Given the description of an element on the screen output the (x, y) to click on. 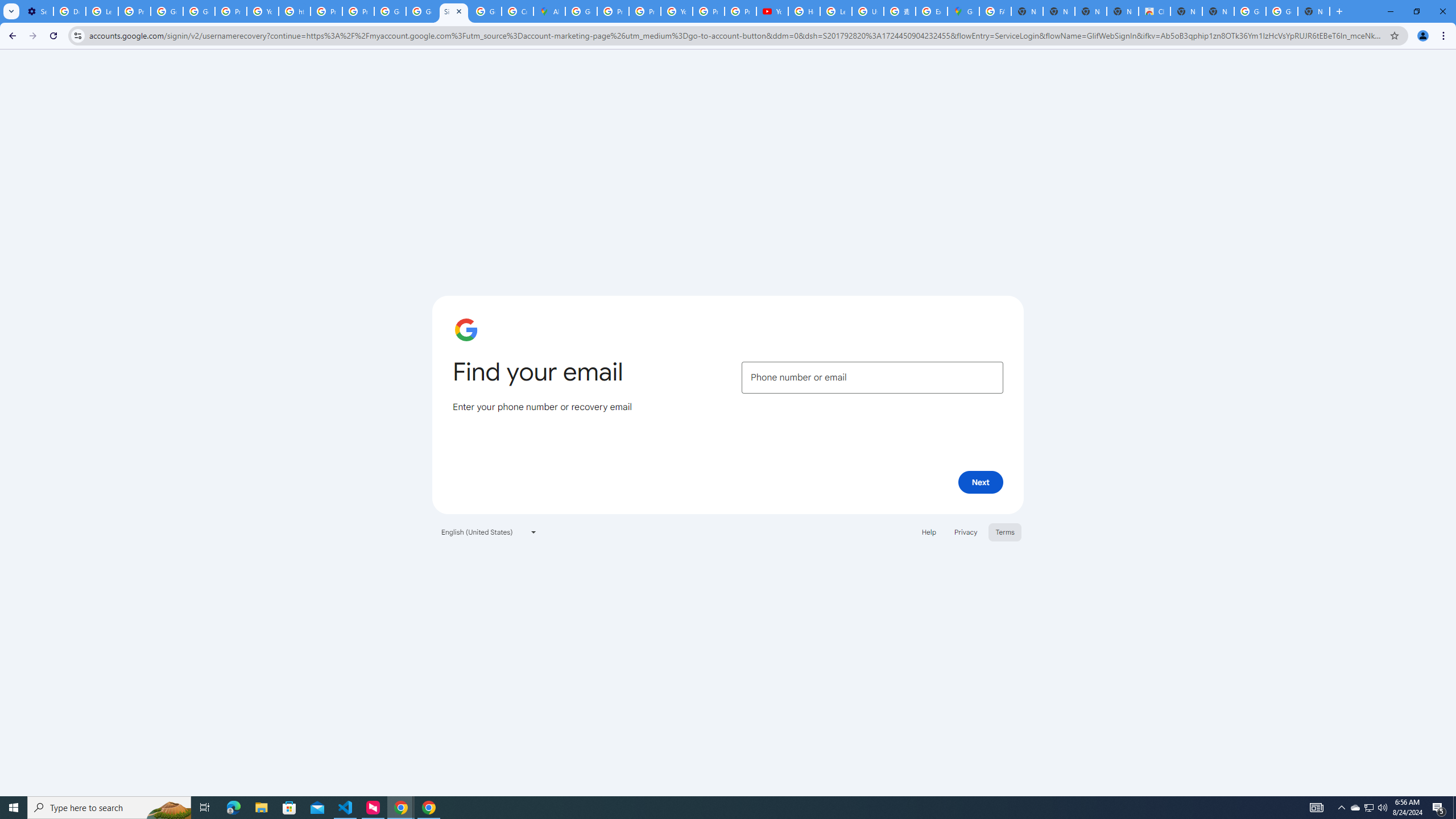
Google Images (1281, 11)
Google Maps (963, 11)
Sign in - Google Accounts (453, 11)
How Chrome protects your passwords - Google Chrome Help (804, 11)
Google Account Help (166, 11)
Privacy Help Center - Policies Help (644, 11)
